Given the description of an element on the screen output the (x, y) to click on. 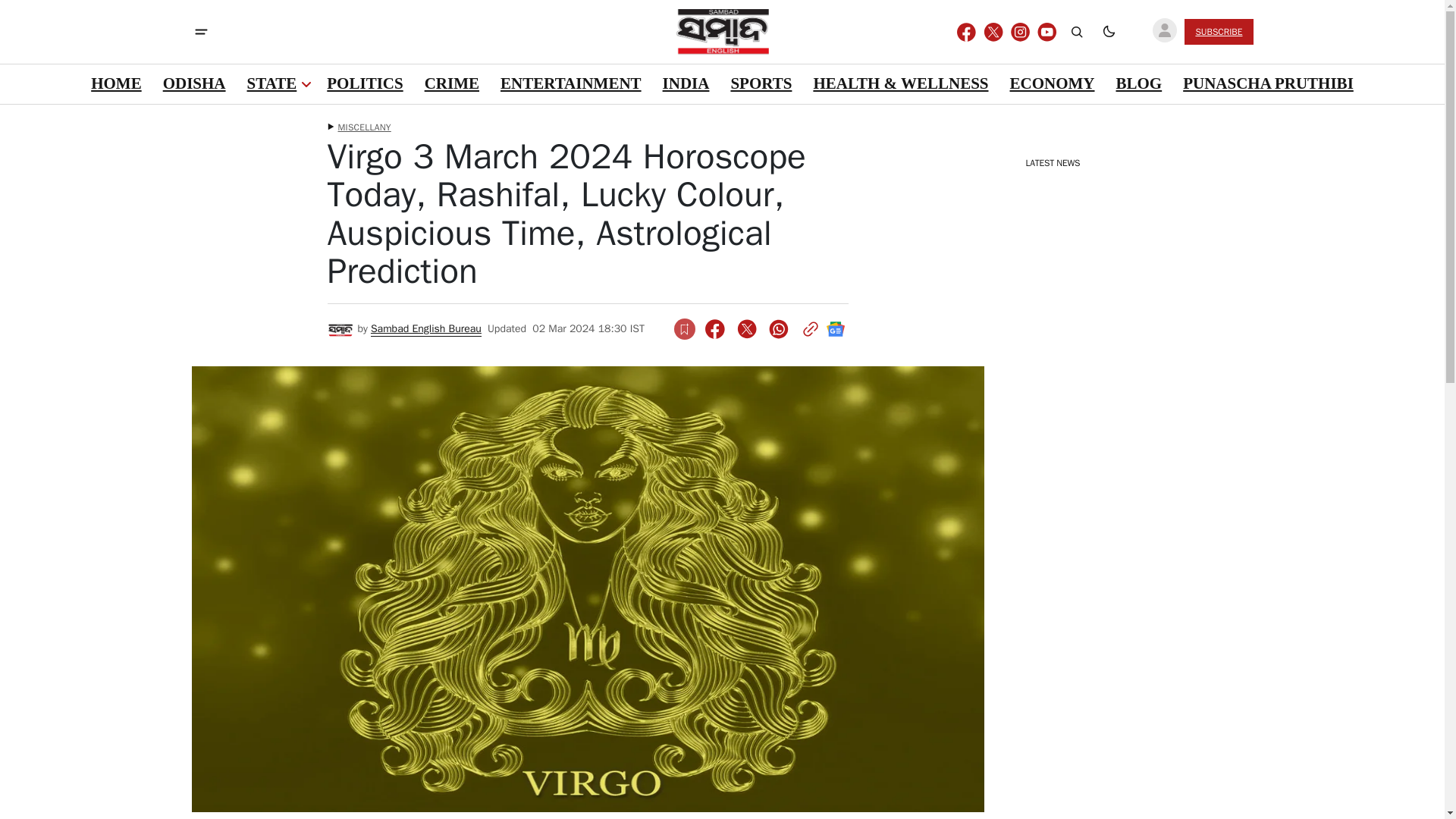
ECONOMY (1051, 84)
ODISHA (194, 84)
STATE (271, 84)
HOME (116, 84)
BLOG (1138, 84)
Search button (1076, 31)
SPORTS (760, 84)
ENTERTAINMENT (570, 84)
INDIA (686, 84)
SUBSCRIBE (1218, 31)
